Given the description of an element on the screen output the (x, y) to click on. 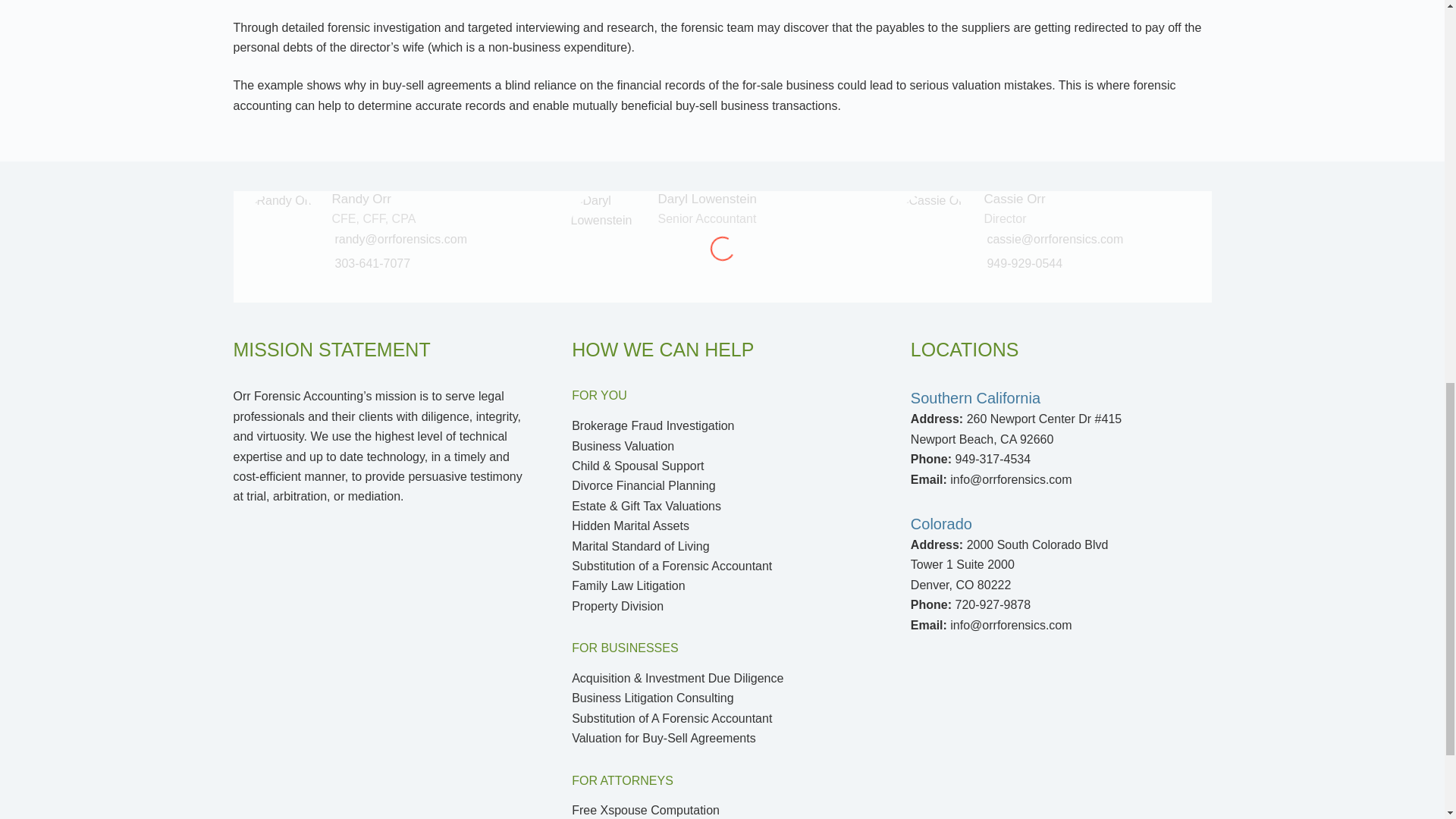
Cassie Orr (1005, 218)
Randy Orr (372, 218)
Daryl Lowenstein (706, 198)
Daryl Lowenstein (706, 218)
Randy Orr (360, 198)
Cassie Orr (1014, 198)
